Given the description of an element on the screen output the (x, y) to click on. 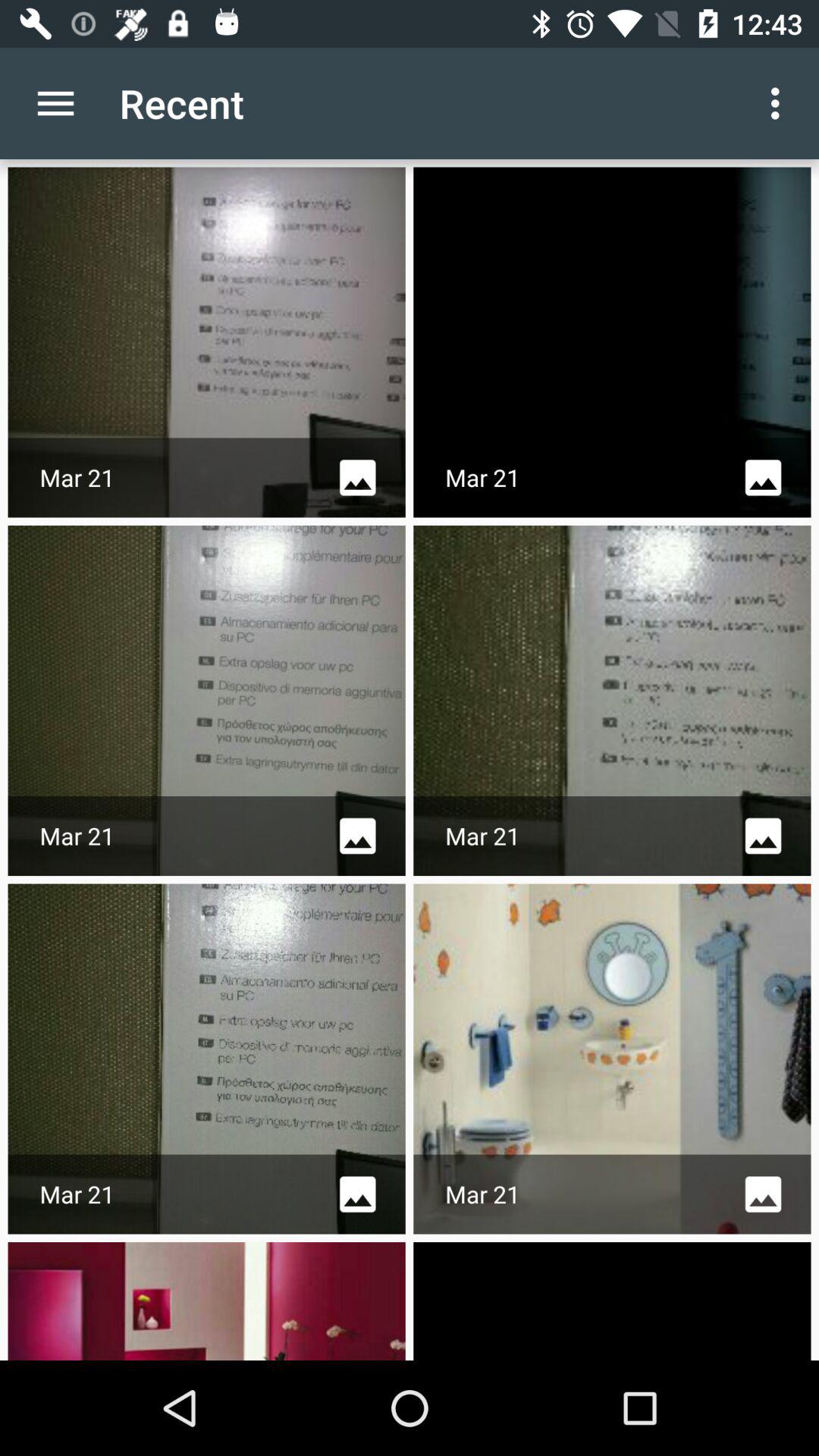
turn on the icon next to recent (55, 103)
